Given the description of an element on the screen output the (x, y) to click on. 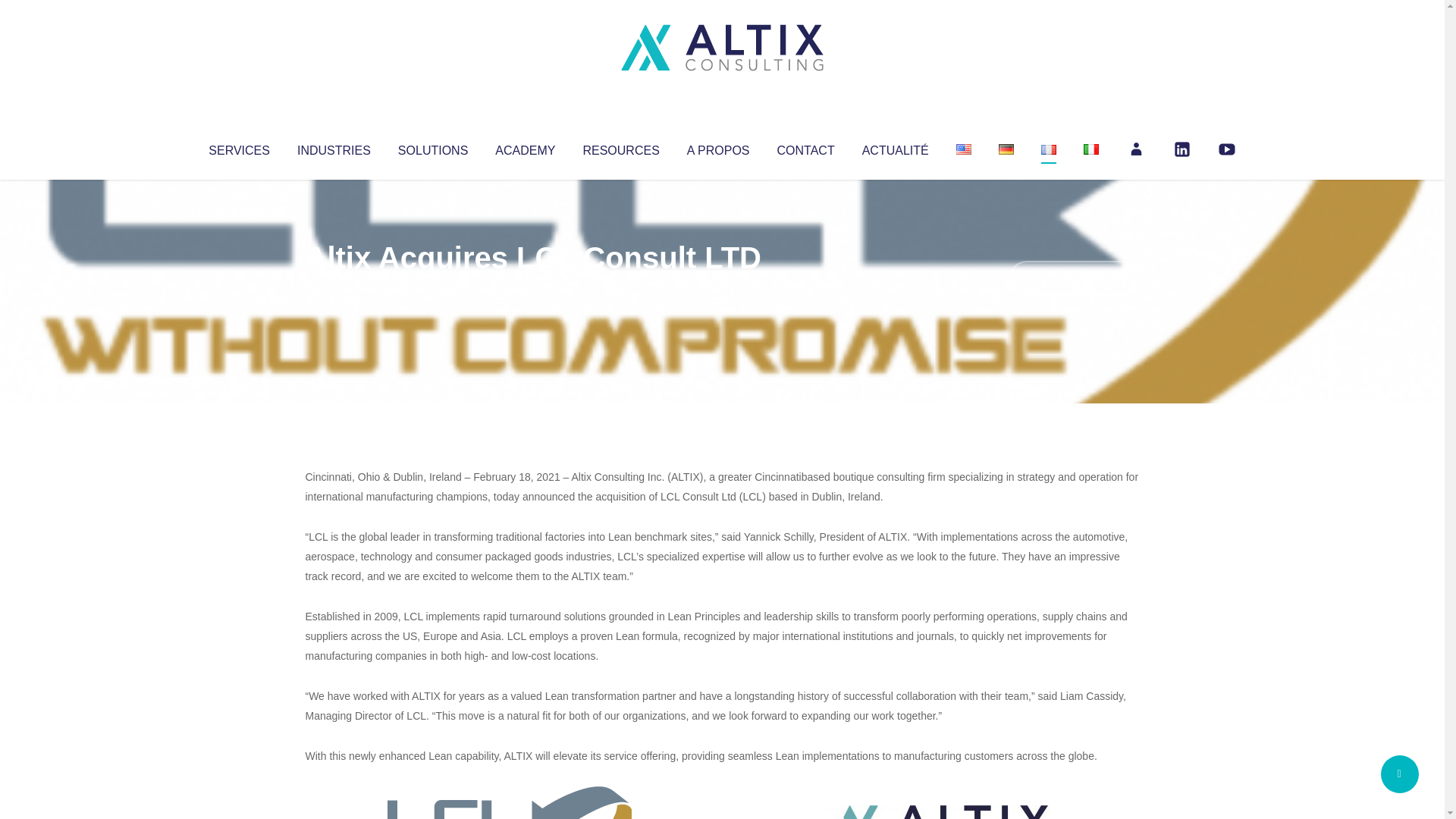
RESOURCES (620, 146)
SERVICES (238, 146)
ACADEMY (524, 146)
A PROPOS (718, 146)
Articles par Altix (333, 287)
No Comments (1073, 278)
Altix (333, 287)
INDUSTRIES (334, 146)
Uncategorized (530, 287)
SOLUTIONS (432, 146)
